Given the description of an element on the screen output the (x, y) to click on. 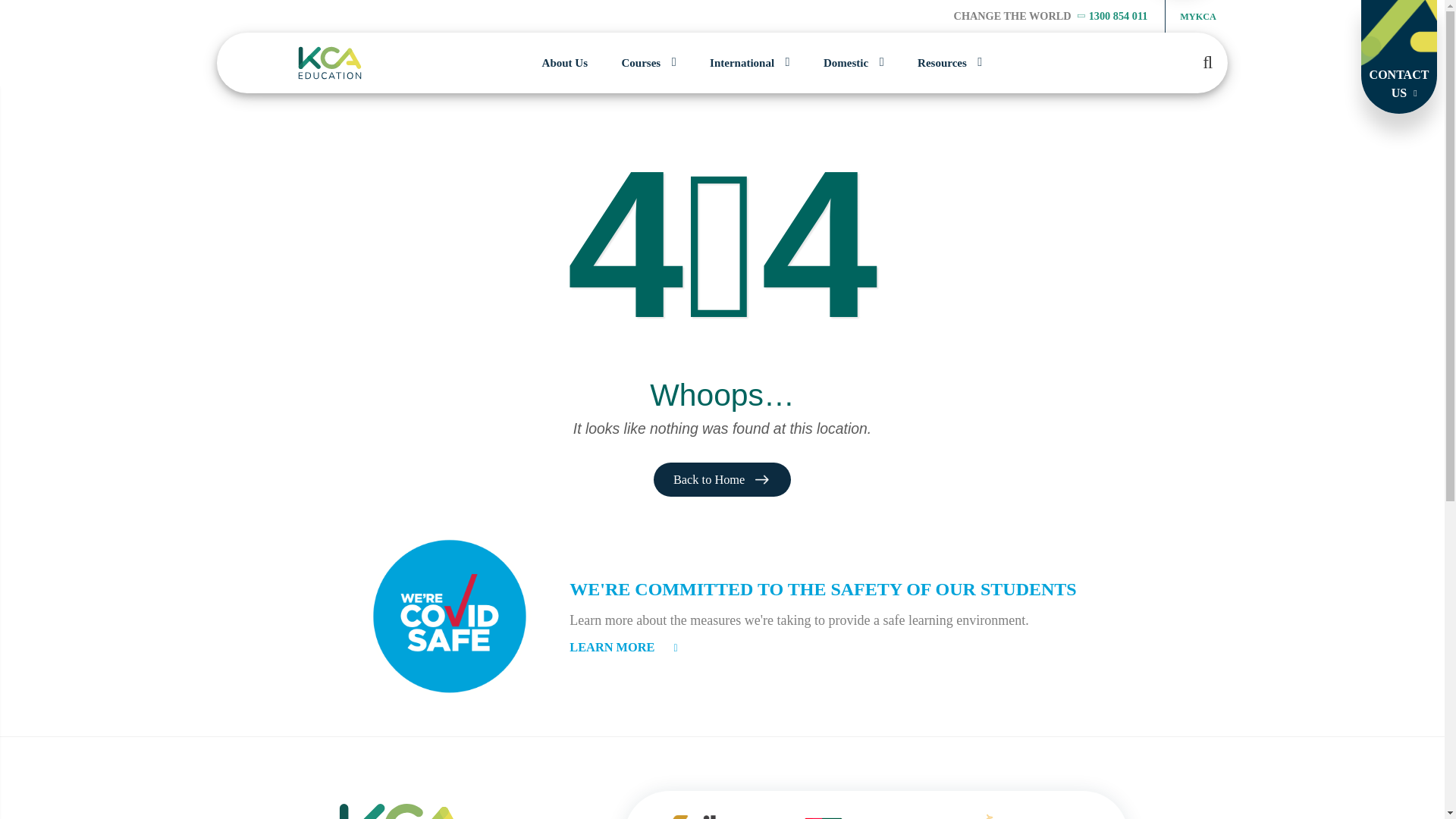
Domestic (845, 63)
Resources (941, 63)
International (742, 63)
MYKCA (1197, 16)
CHANGE THE WORLD 1300 854 011 (1050, 15)
Courses (641, 63)
About Us (564, 63)
